Given the description of an element on the screen output the (x, y) to click on. 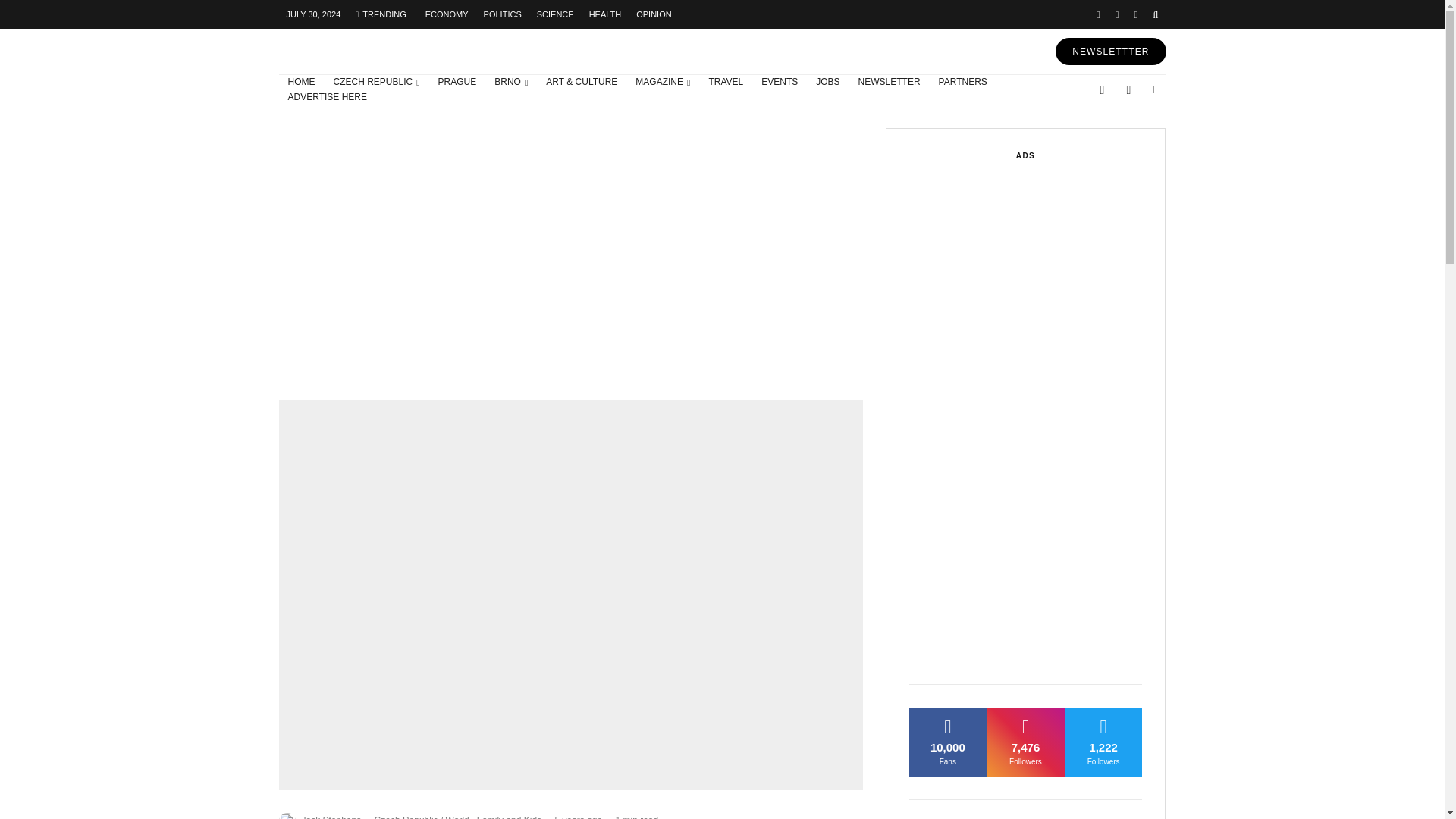
TRENDING (380, 14)
HEALTH (604, 14)
ECONOMY (446, 14)
PRAGUE (457, 82)
POLITICS (502, 14)
CZECH REPUBLIC (376, 82)
OPINION (653, 14)
NEWSLETTTER (1110, 51)
HOME (301, 82)
SCIENCE (554, 14)
